Given the description of an element on the screen output the (x, y) to click on. 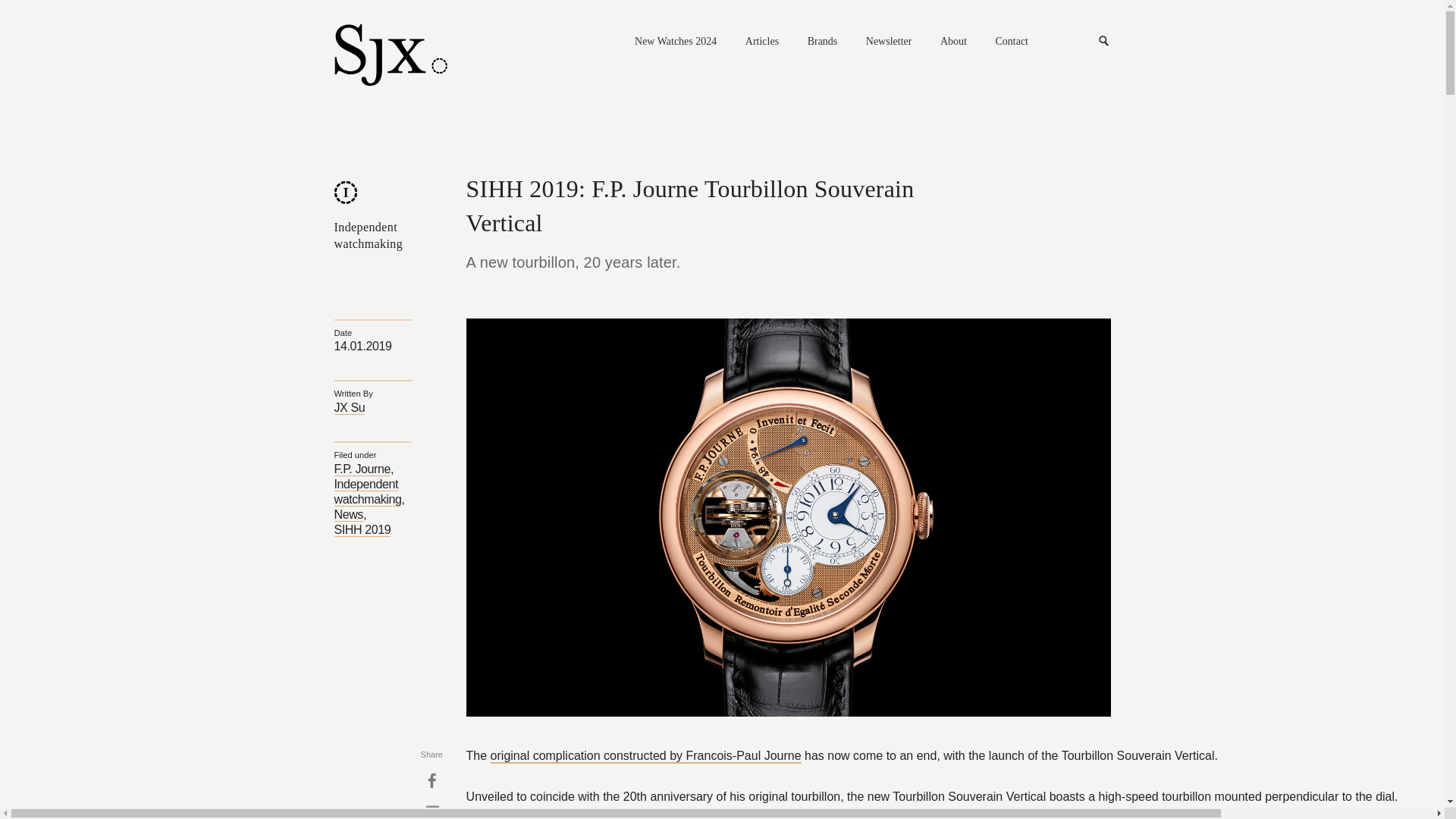
Newsletter (889, 42)
New Watches 2024 (675, 42)
Search (1103, 40)
Articles (762, 42)
Posts by JX Su (349, 407)
Contact (1010, 42)
Brands (823, 42)
About (953, 42)
